Given the description of an element on the screen output the (x, y) to click on. 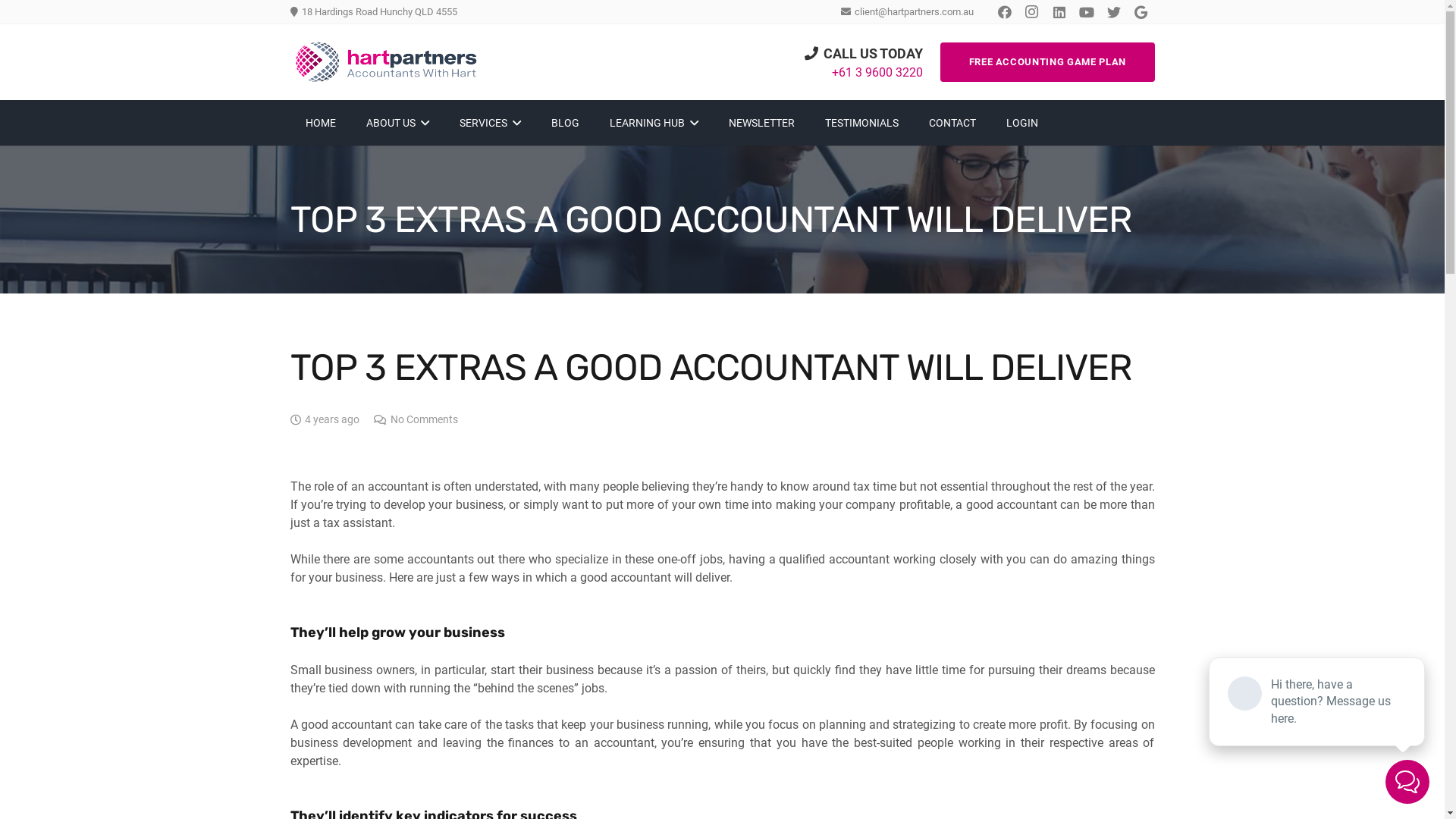
FREE ACCOUNTING GAME PLAN Element type: text (1047, 61)
+61 3 9600 3220 Element type: text (876, 72)
LEARNING HUB Element type: text (653, 122)
TESTIMONIALS Element type: text (861, 122)
CONTACT Element type: text (952, 122)
HOME Element type: text (319, 122)
NEWSLETTER Element type: text (761, 122)
SERVICES Element type: text (490, 122)
client@hartpartners.com.au Element type: text (906, 11)
LOGIN Element type: text (1022, 122)
No Comments Element type: text (424, 419)
ABOUT US Element type: text (396, 122)
BLOG Element type: text (565, 122)
